Given the description of an element on the screen output the (x, y) to click on. 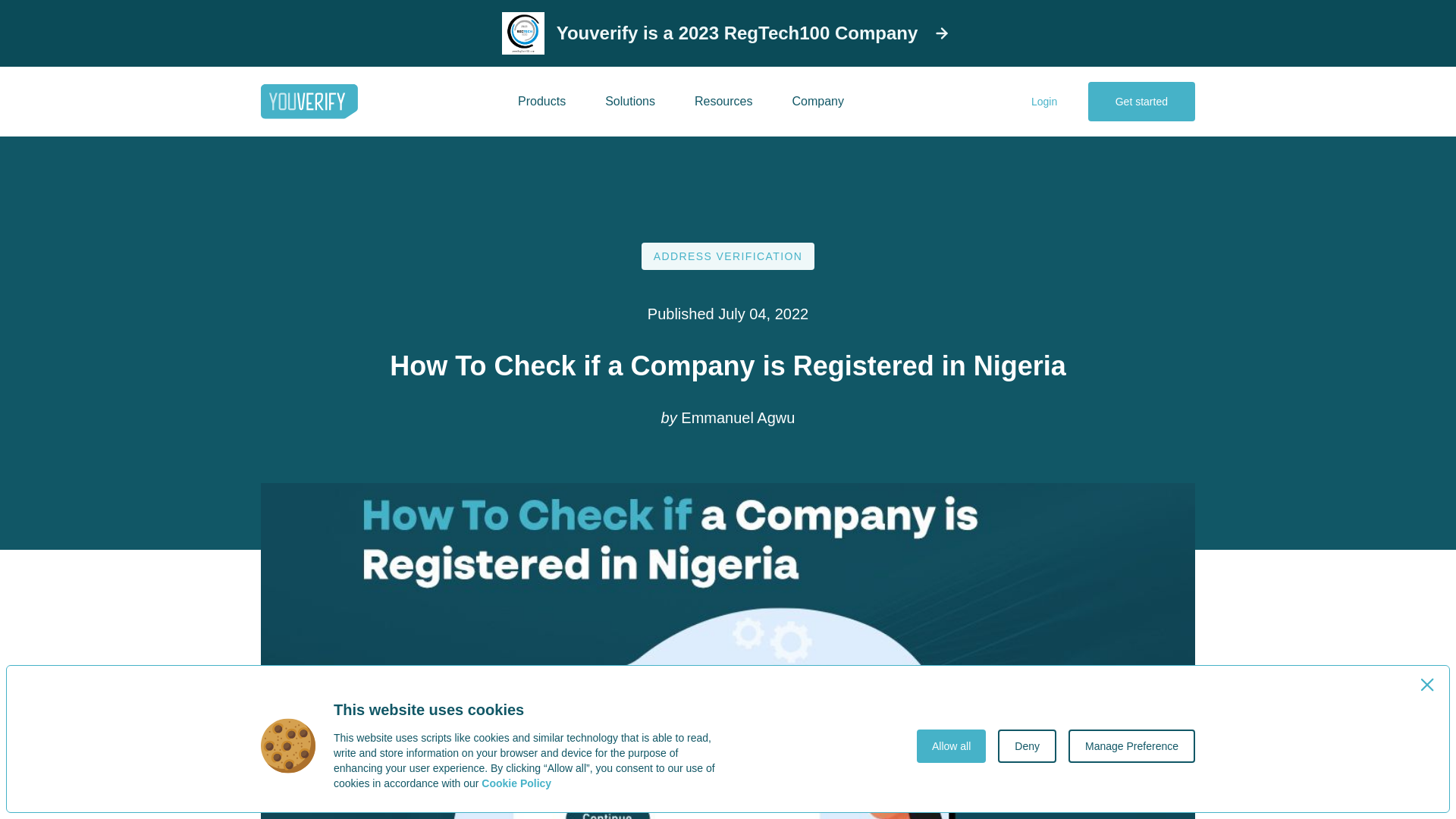
Get started (1141, 101)
Youverify is a 2023 RegTech100 Company (727, 33)
Login (1044, 101)
